Given the description of an element on the screen output the (x, y) to click on. 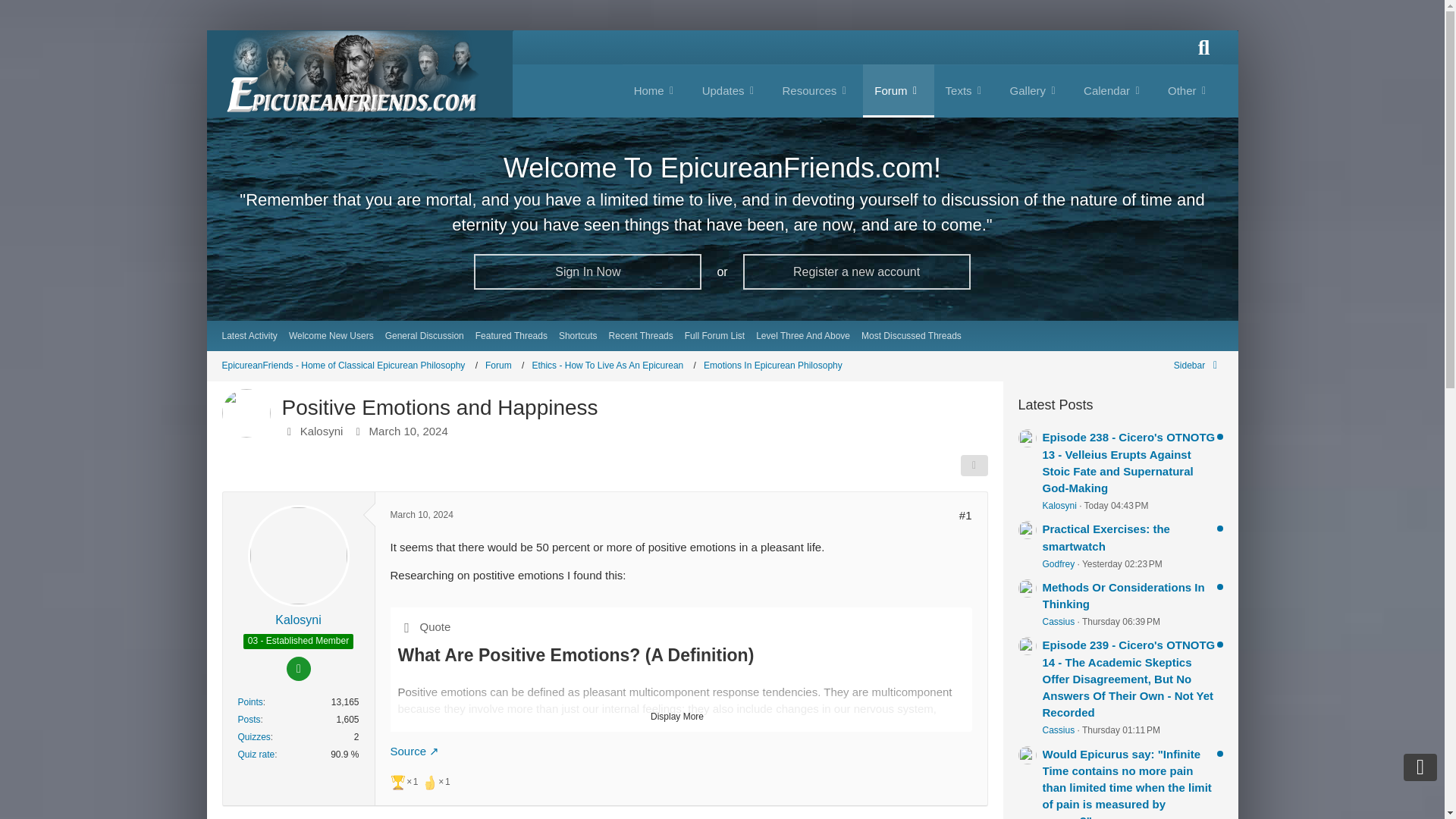
Forum (504, 366)
Ethics - How To Live As An Epicurean (613, 366)
Emotions In Epicurean Philosophy (773, 366)
EpicureanFriends - Home of Classical Epicurean Philosophy (349, 366)
